Given the description of an element on the screen output the (x, y) to click on. 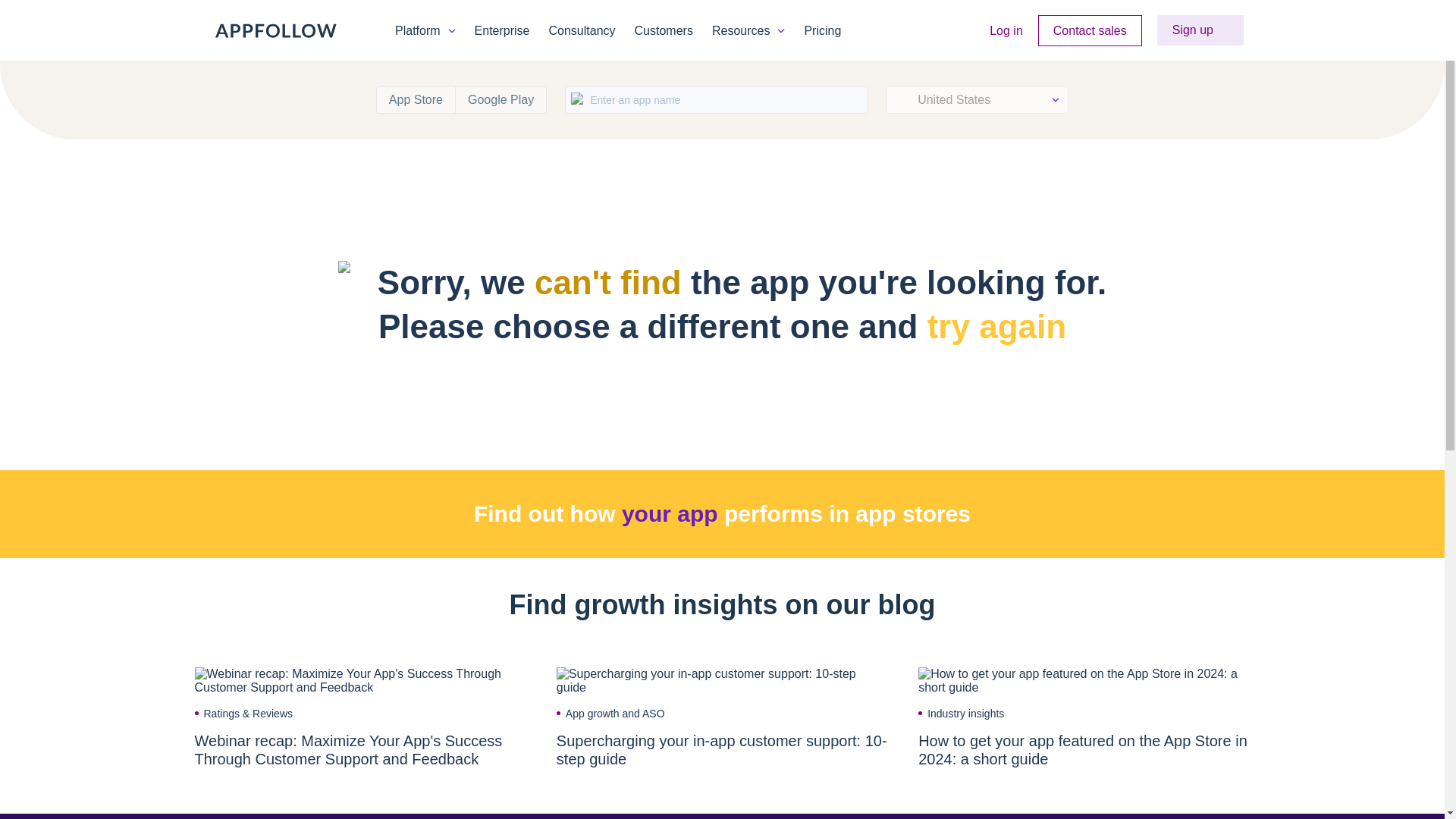
Contact sales (1089, 30)
Sign up (1200, 30)
Customers (663, 30)
Log in (1006, 30)
Consultancy (581, 30)
Enterprise (501, 30)
